Given the description of an element on the screen output the (x, y) to click on. 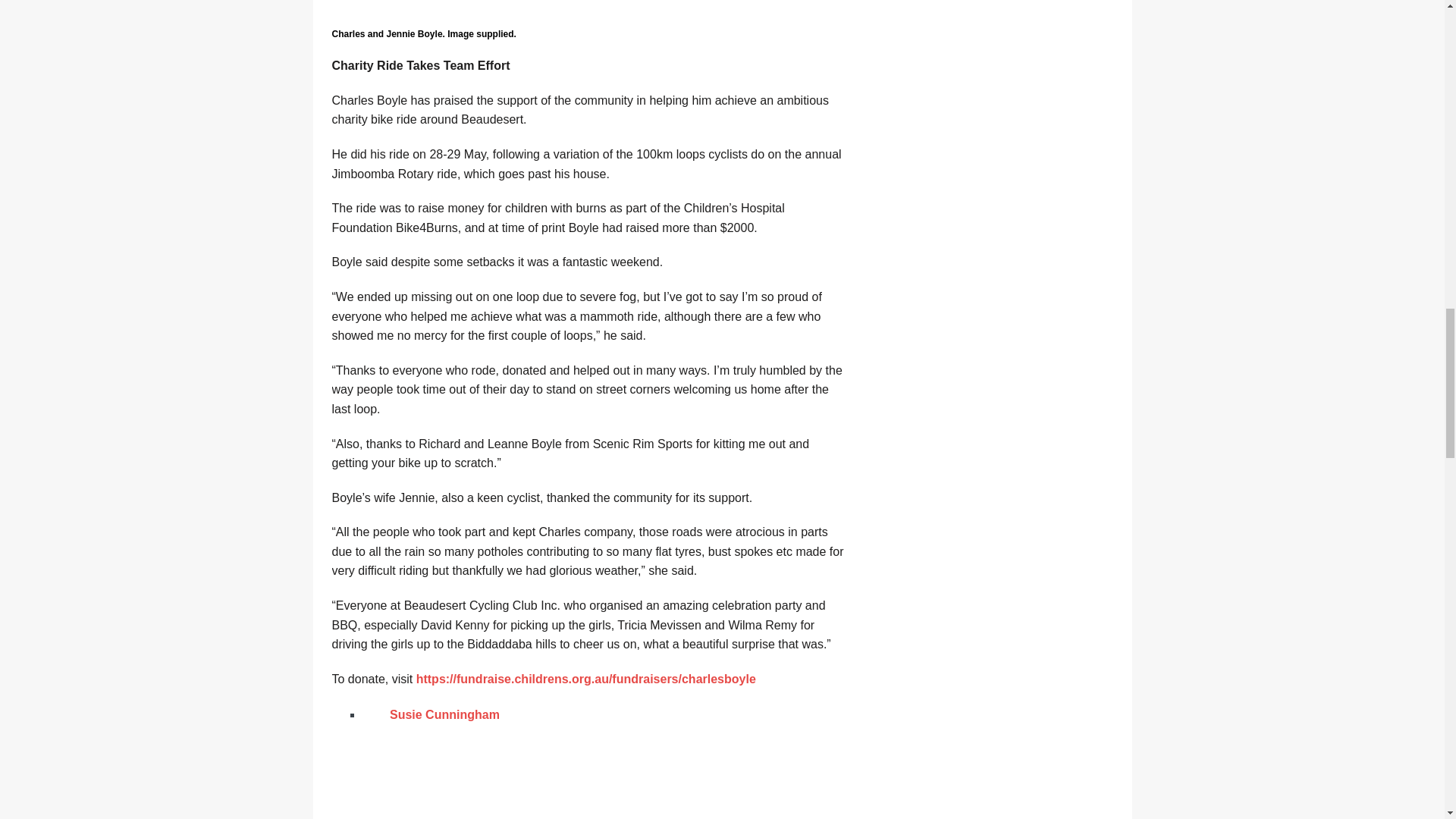
Susie Cunningham (444, 714)
